Given the description of an element on the screen output the (x, y) to click on. 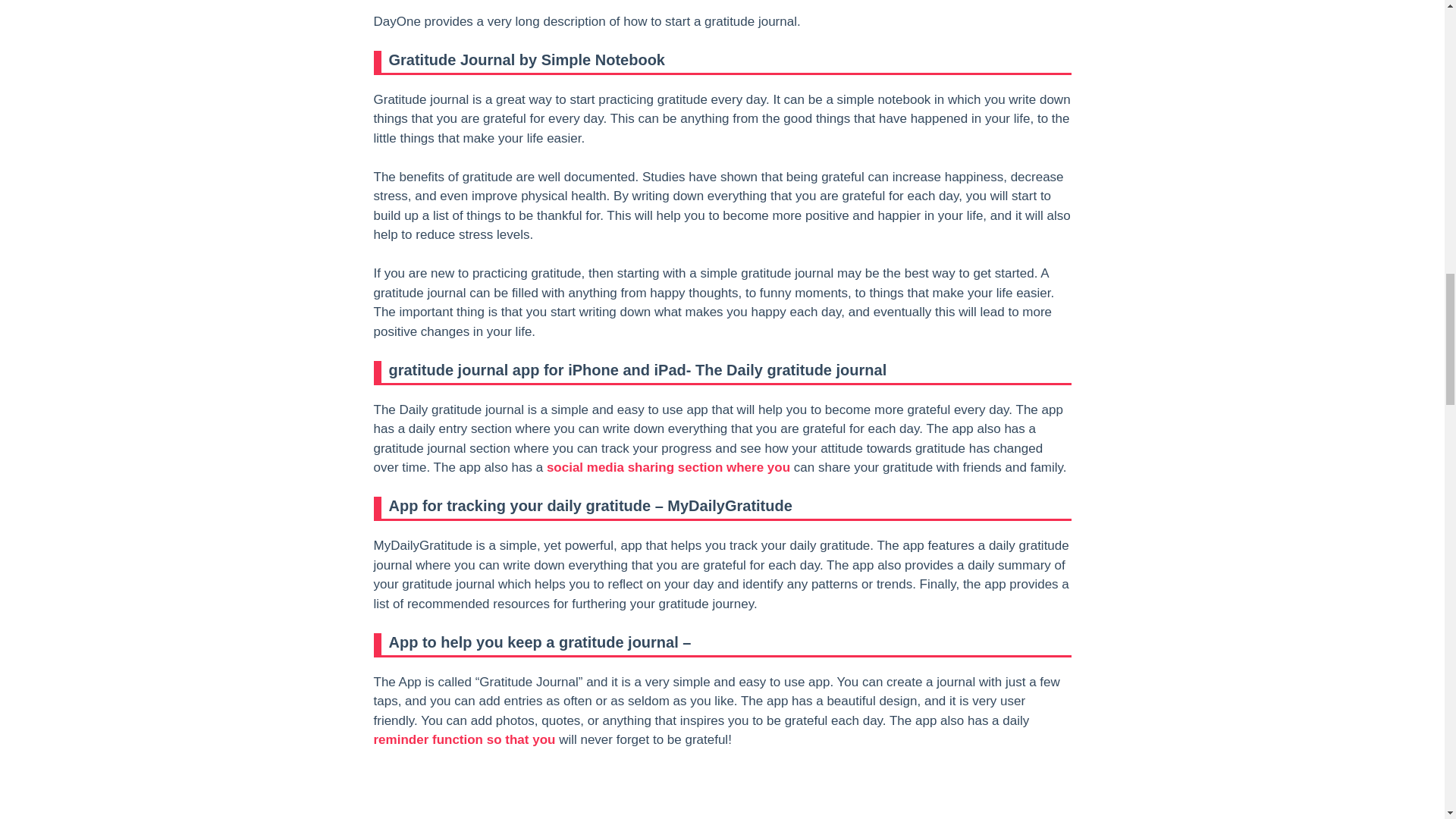
reminder function so that you (463, 739)
social media sharing section where you (668, 467)
